Given the description of an element on the screen output the (x, y) to click on. 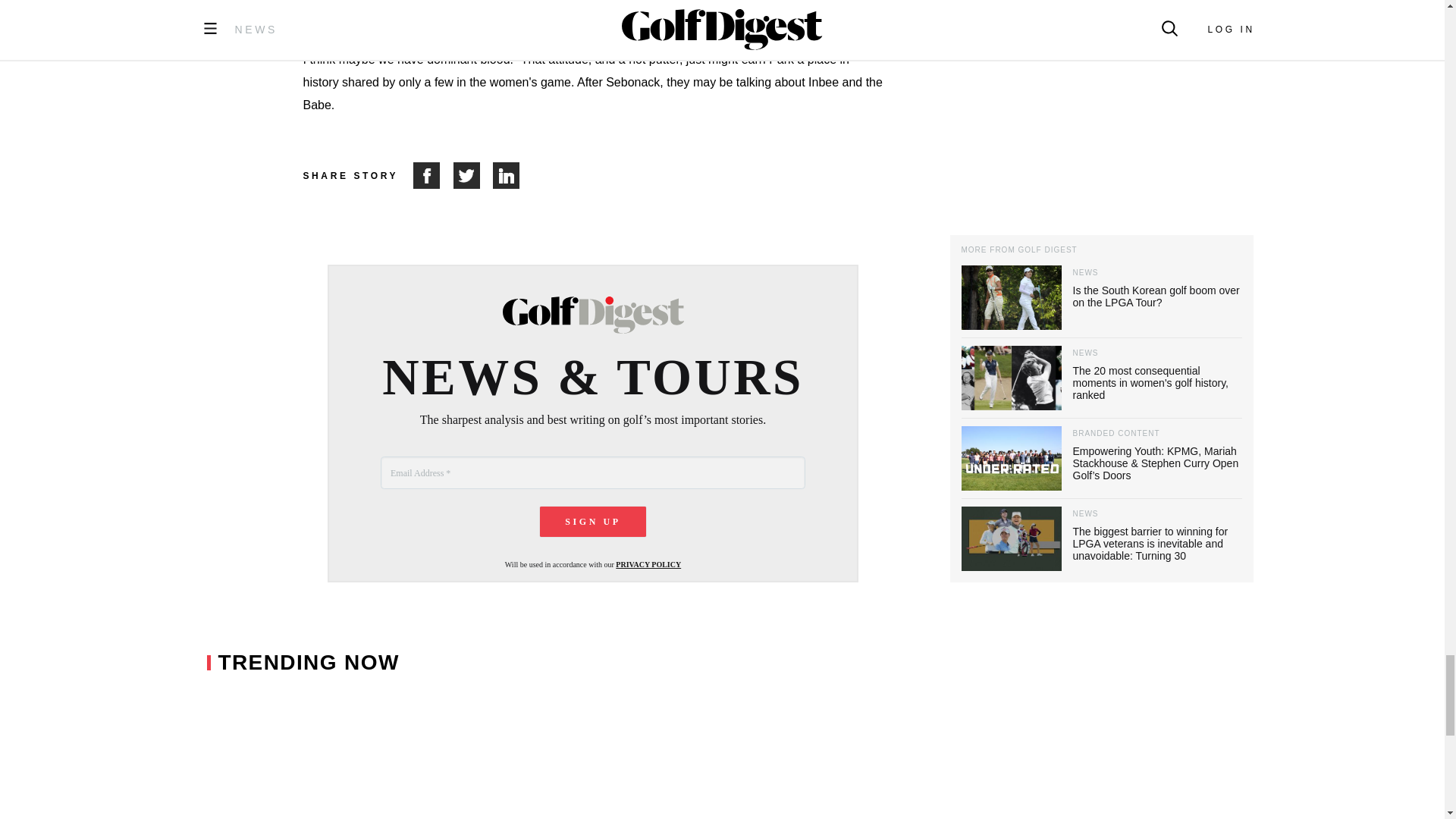
Share on Twitter (472, 175)
Share on Facebook (432, 175)
Share on LinkedIn (506, 175)
Sign up (593, 521)
